Given the description of an element on the screen output the (x, y) to click on. 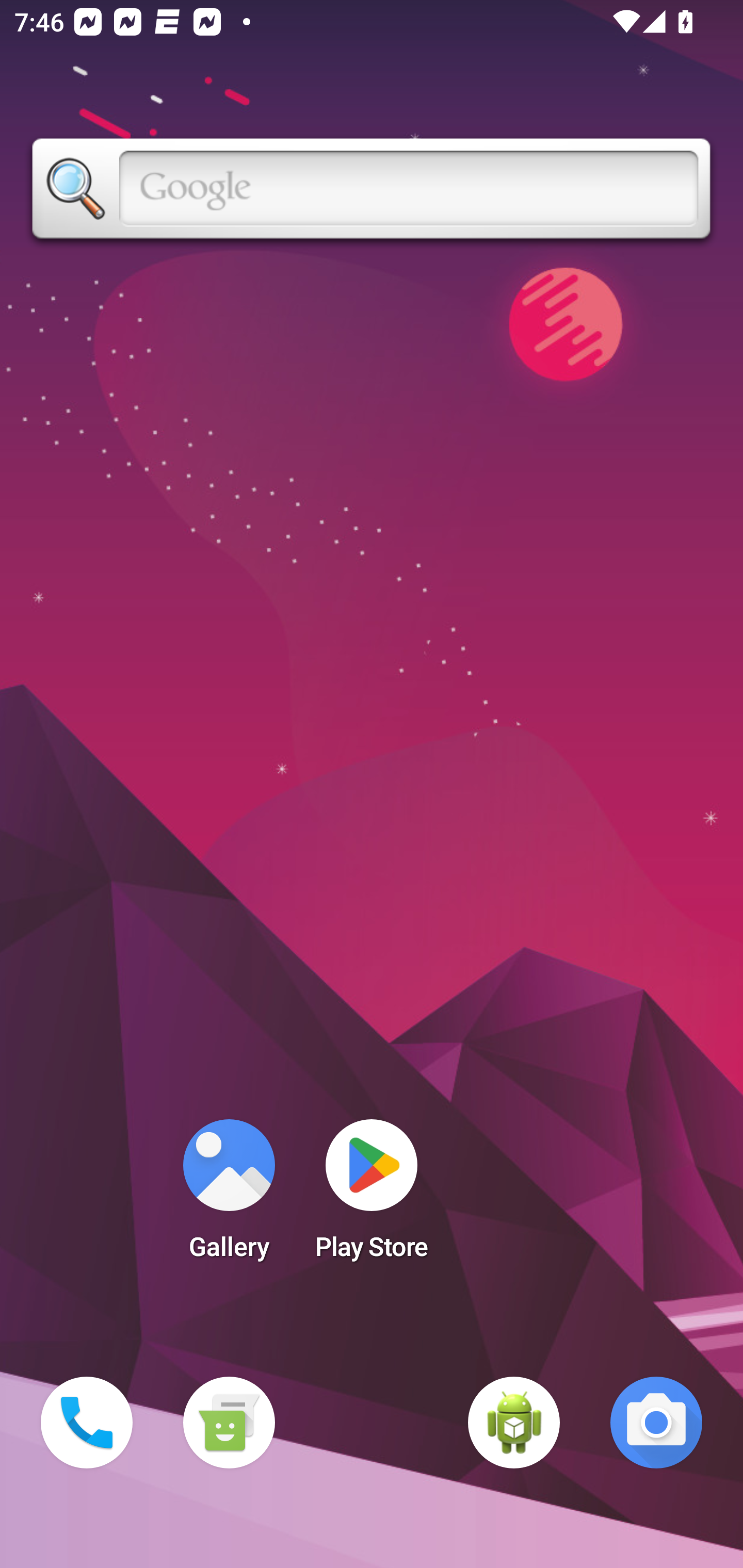
Gallery (228, 1195)
Play Store (371, 1195)
Phone (86, 1422)
Messaging (228, 1422)
WebView Browser Tester (513, 1422)
Camera (656, 1422)
